Given the description of an element on the screen output the (x, y) to click on. 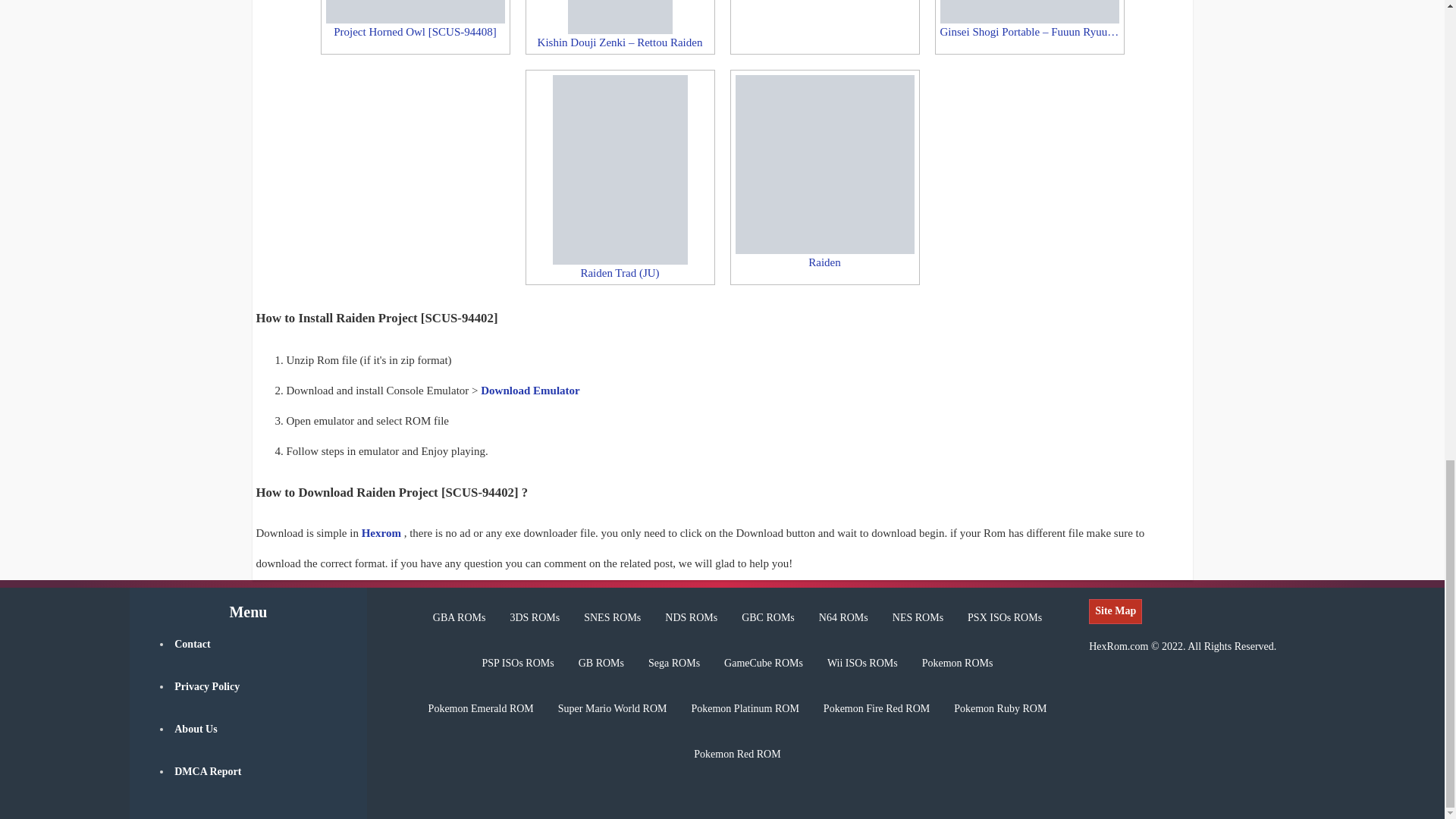
NES ROMs (917, 620)
About Us (263, 739)
PSX ISOs ROMs (1004, 620)
Raiden Densetsu (823, 27)
GBA ROMs (459, 620)
DMCA Report (263, 782)
NDS ROMs (691, 620)
3DS ROMs (534, 620)
Download Emulator (529, 390)
GBA ROMs (459, 620)
